Given the description of an element on the screen output the (x, y) to click on. 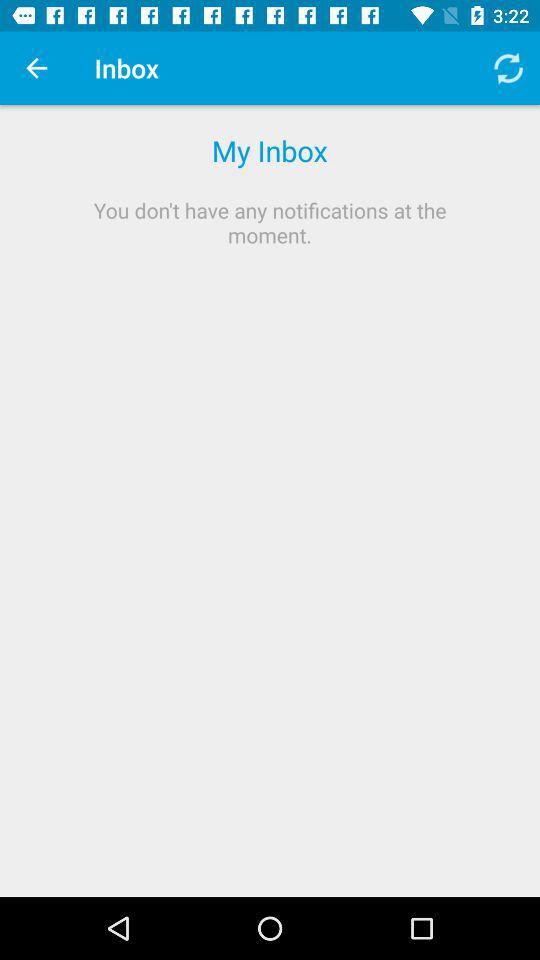
turn on icon next to inbox item (508, 67)
